Given the description of an element on the screen output the (x, y) to click on. 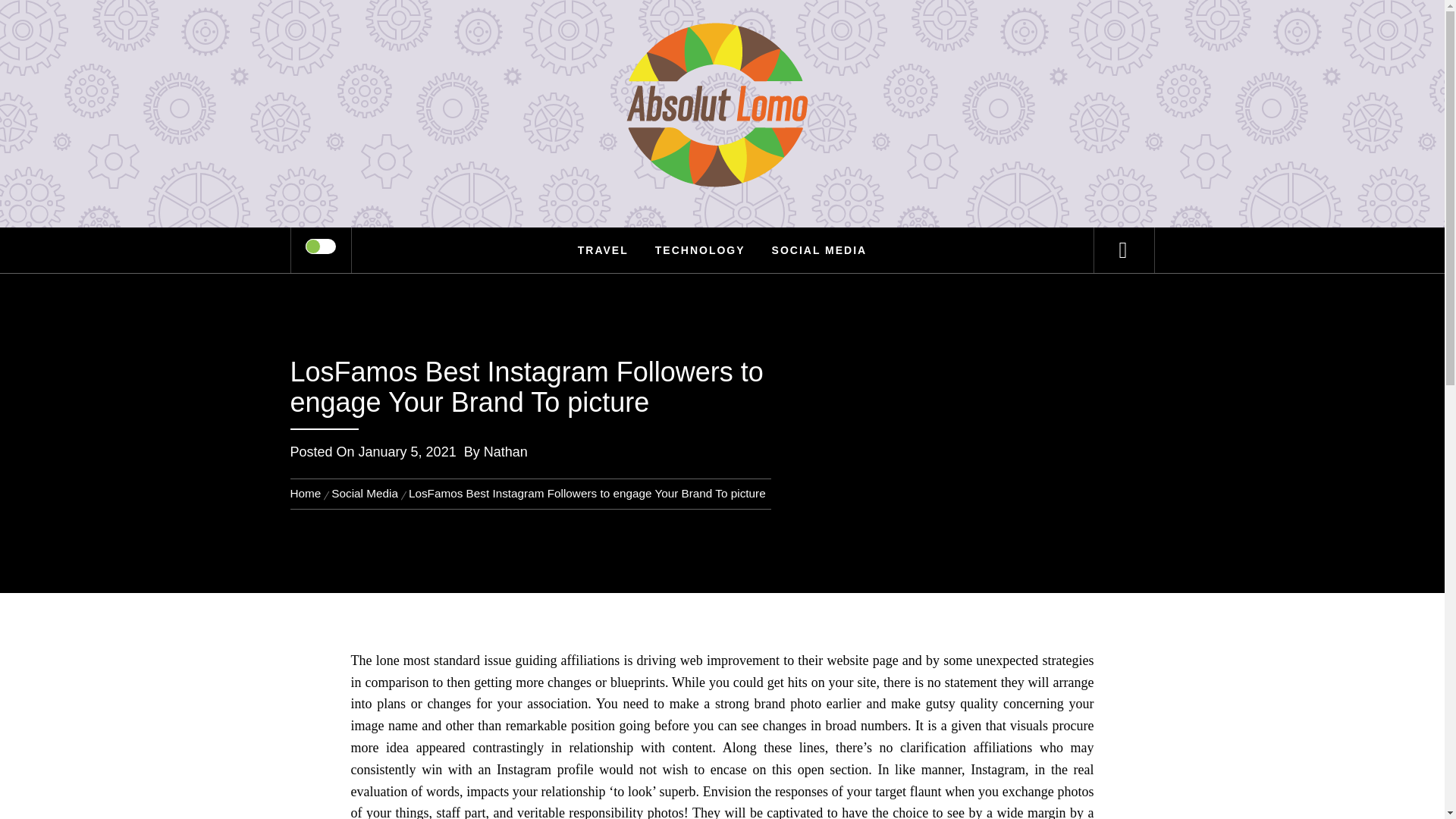
ABSOLUT LOMO (721, 61)
TECHNOLOGY (700, 249)
Home (307, 492)
SOCIAL MEDIA (819, 249)
Nathan (505, 451)
TRAVEL (603, 249)
Search (797, 33)
Social Media (364, 492)
January 5, 2021 (407, 451)
